Given the description of an element on the screen output the (x, y) to click on. 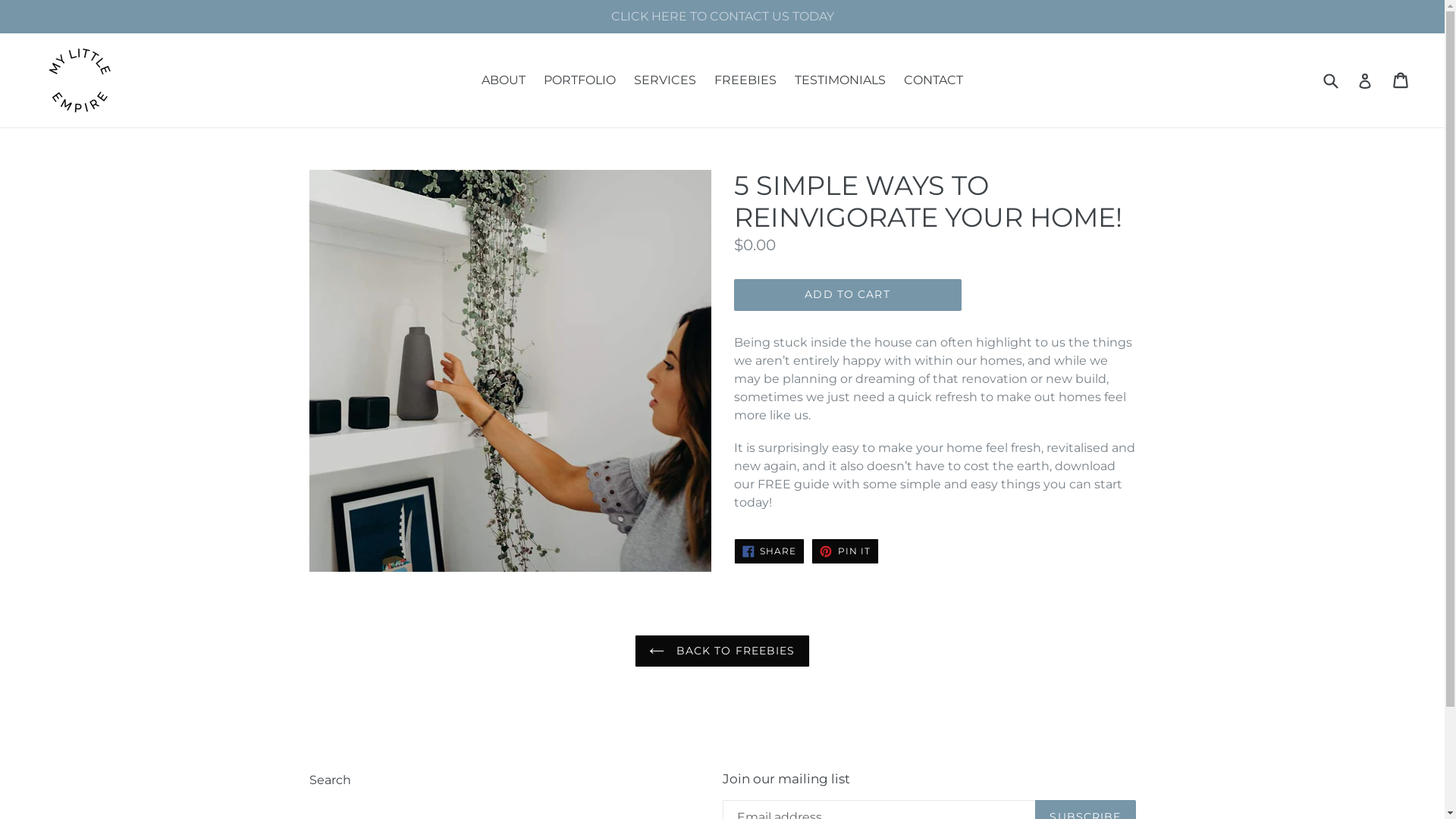
CONTACT Element type: text (933, 80)
ABOUT Element type: text (503, 80)
SHARE
SHARE ON FACEBOOK Element type: text (769, 551)
PIN IT
PIN ON PINTEREST Element type: text (844, 551)
Search Element type: text (330, 779)
PORTFOLIO Element type: text (579, 80)
FREEBIES Element type: text (745, 80)
SERVICES Element type: text (664, 80)
Submit Element type: text (1329, 79)
CLICK HERE TO CONTACT US TODAY Element type: text (722, 16)
Cart
Cart Element type: text (1401, 79)
BACK TO FREEBIES Element type: text (721, 650)
ADD TO CART Element type: text (847, 294)
TESTIMONIALS Element type: text (840, 80)
Log in Element type: text (1364, 80)
